Given the description of an element on the screen output the (x, y) to click on. 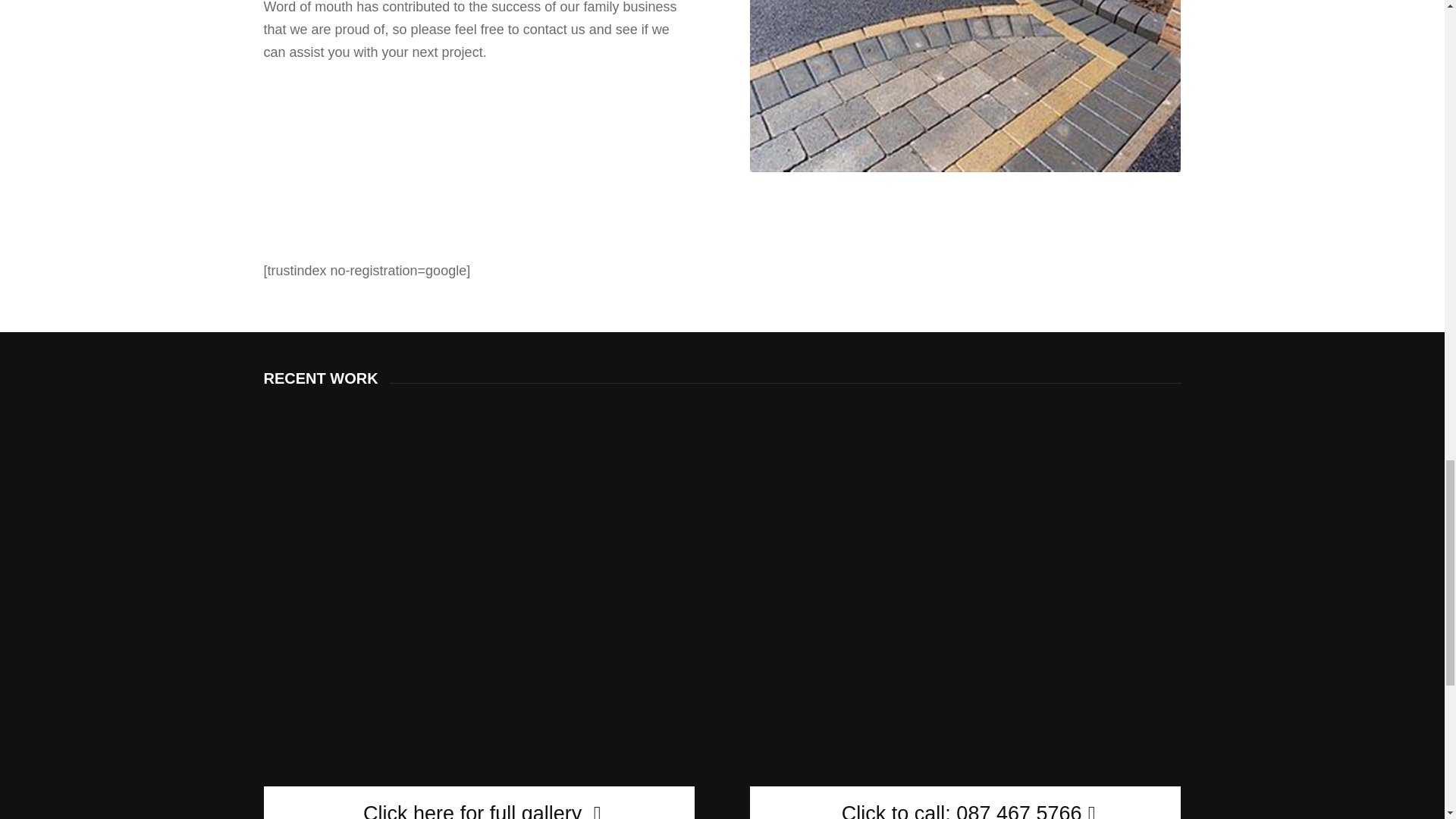
Active Paving Dublin (964, 86)
